Given the description of an element on the screen output the (x, y) to click on. 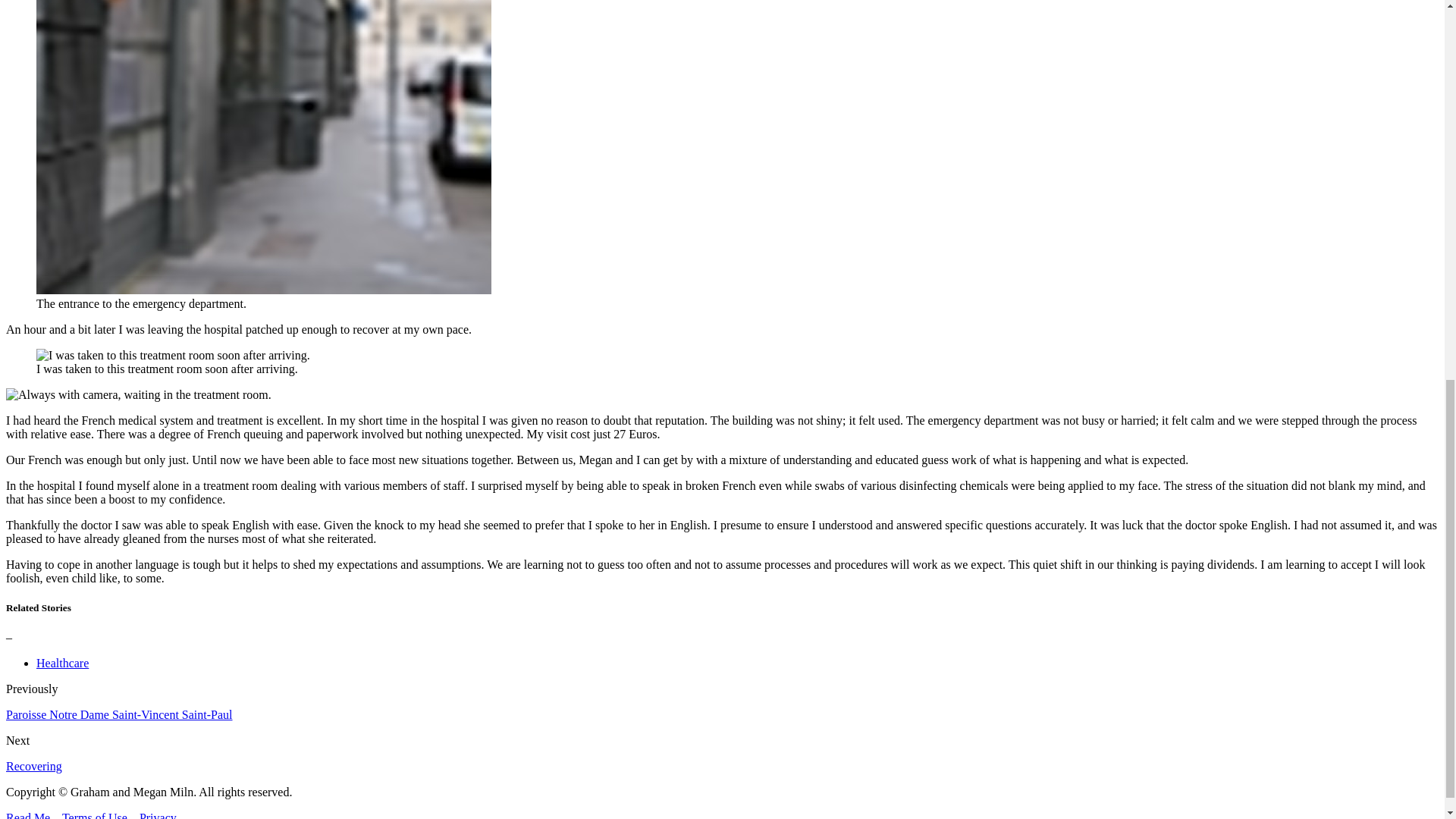
I was taken to this treatment room soon after arriving. (173, 355)
Recovering (33, 766)
Always with camera, waiting in the treatment room. (137, 395)
Paroisse Notre Dame Saint-Vincent Saint-Paul (118, 714)
Healthcare (62, 662)
The entrance to the emergency department. (264, 147)
